Given the description of an element on the screen output the (x, y) to click on. 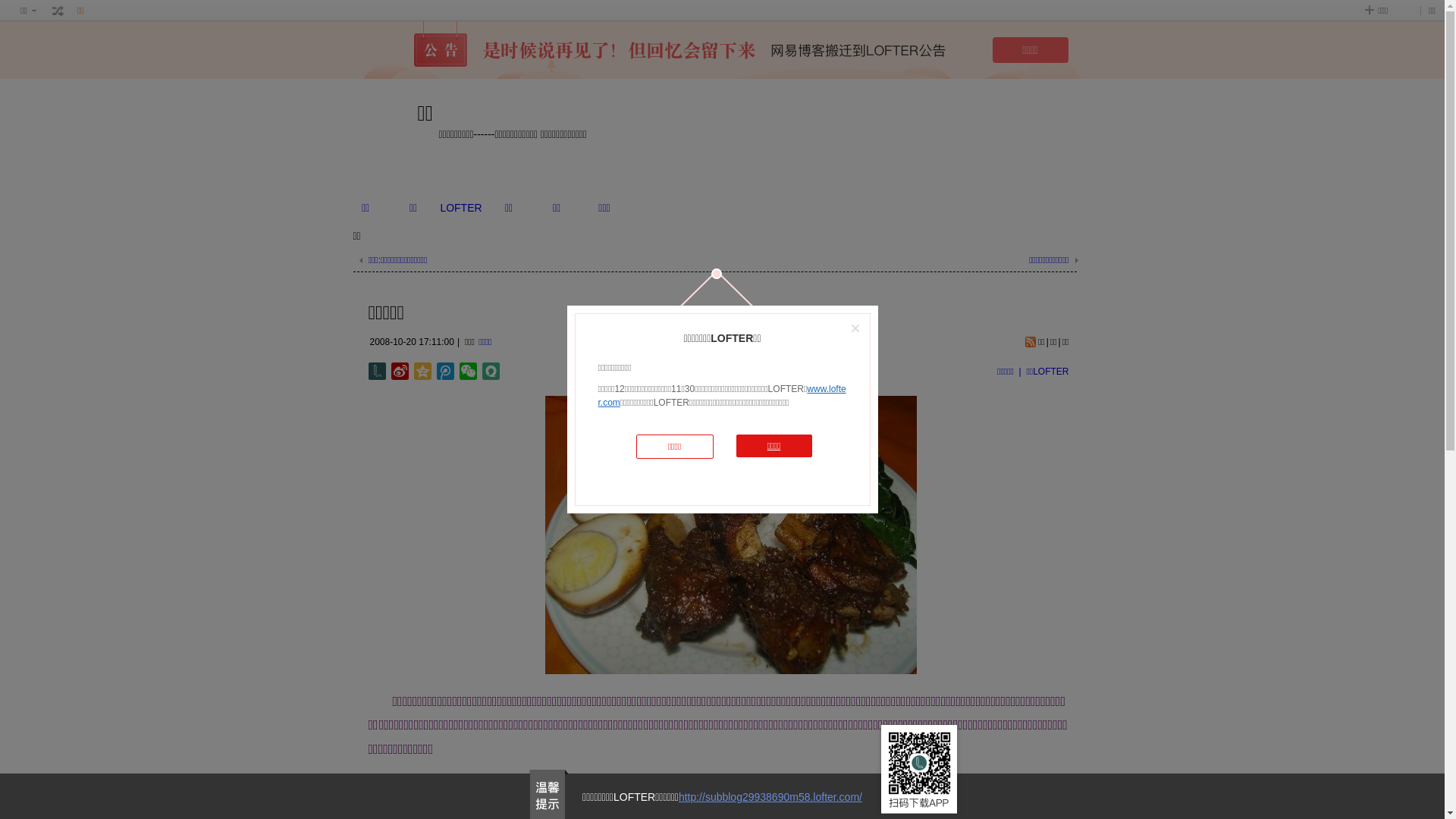
LOFTER Element type: text (460, 207)
www.lofter.com Element type: text (721, 395)
  Element type: text (58, 10)
http://subblog29938690m58.lofter.com/ Element type: text (770, 796)
